Given the description of an element on the screen output the (x, y) to click on. 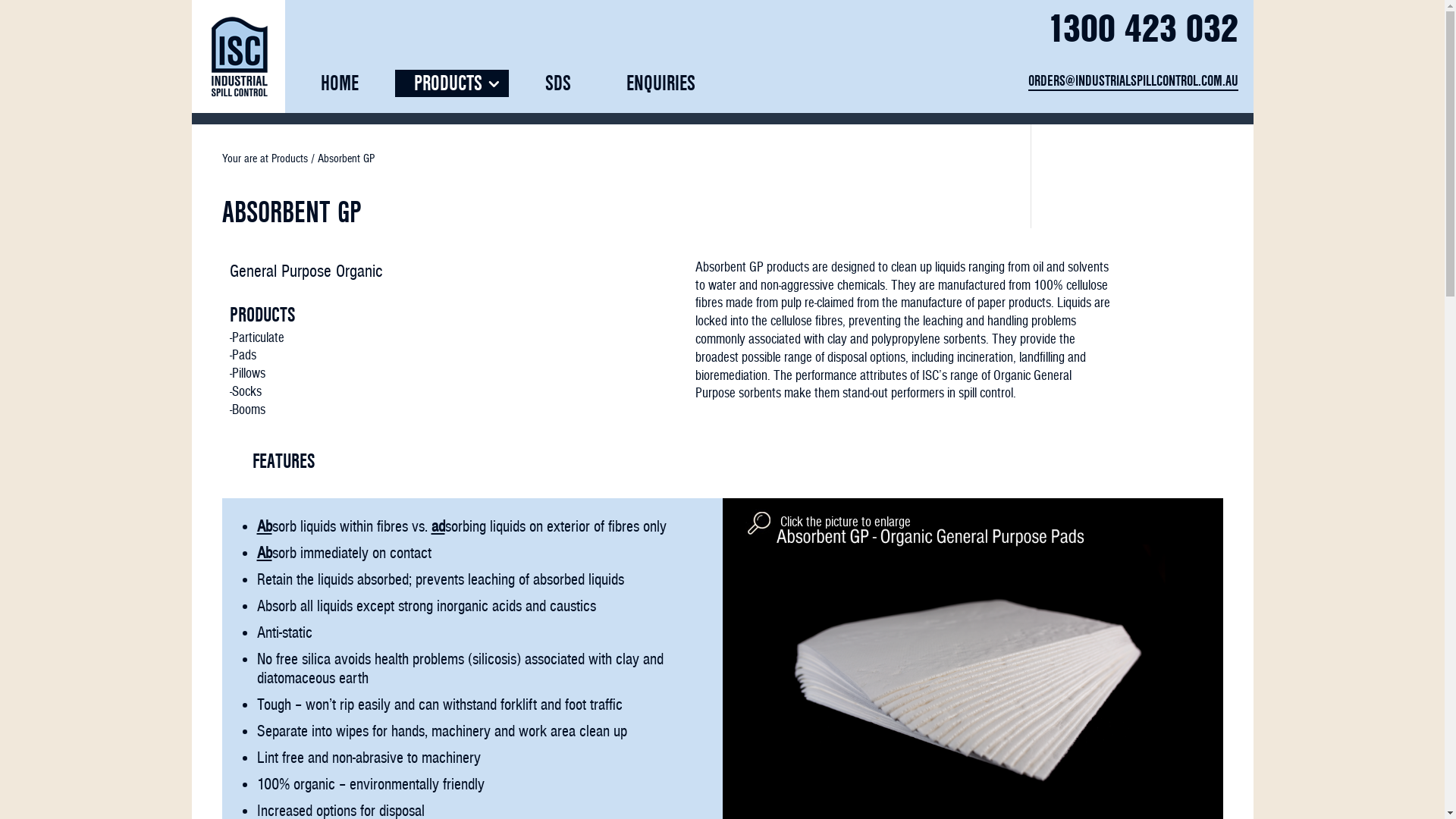
ORDERS@INDUSTRIALSPILLCONTROL.COM.AU Element type: text (1133, 82)
Products Element type: text (289, 158)
HOME Element type: text (339, 83)
Your are at Element type: text (245, 158)
1300 423 032 Element type: text (1141, 28)
SDS Element type: text (557, 83)
ENQUIRIES Element type: text (659, 83)
PRODUCTS Element type: text (451, 83)
